Given the description of an element on the screen output the (x, y) to click on. 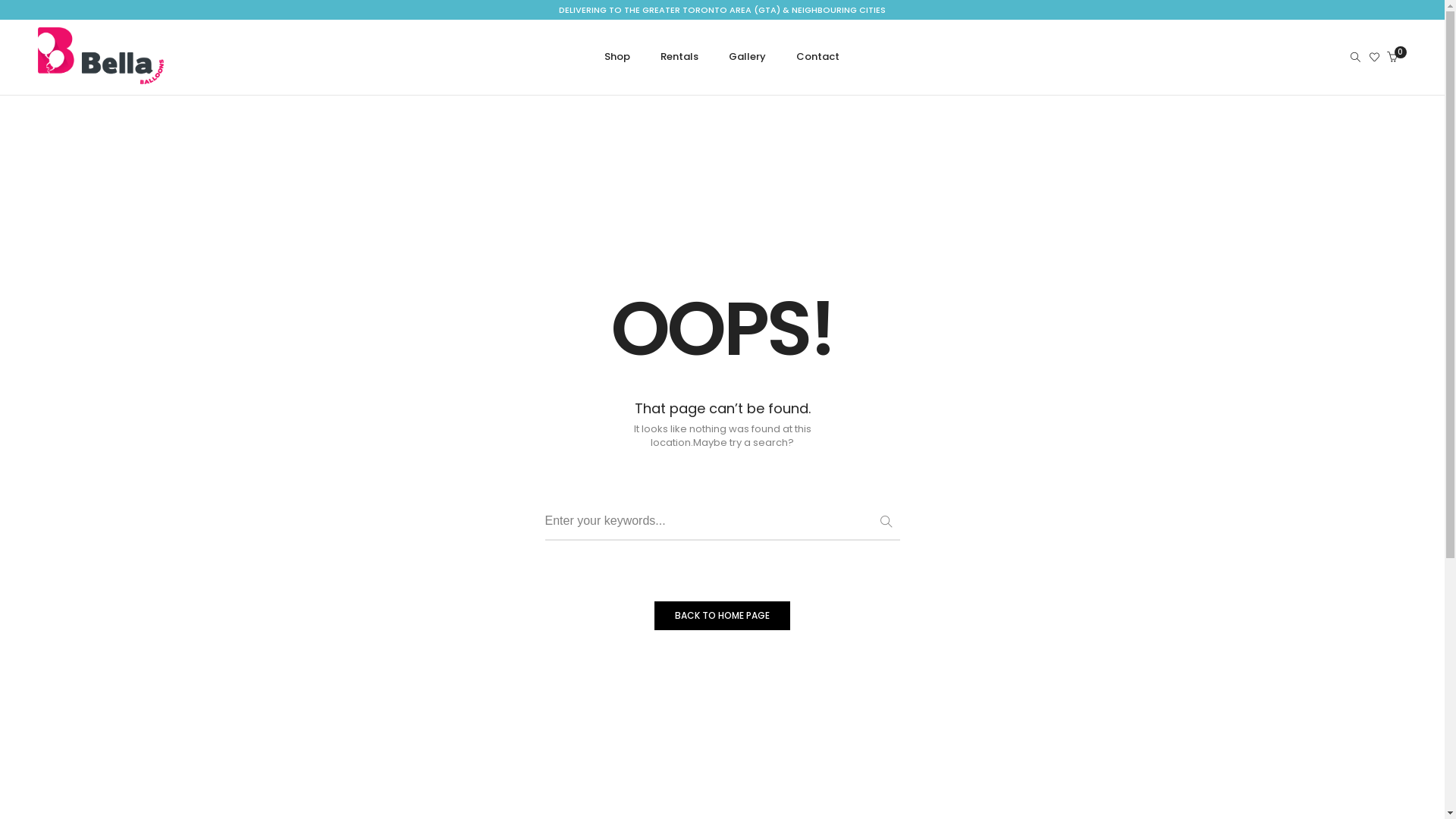
Contact Element type: text (810, 56)
Shop Element type: text (623, 56)
Gallery Element type: text (747, 56)
Rentals Element type: text (679, 56)
BACK TO HOME PAGE Element type: text (722, 615)
Bella Balloons Element type: hover (100, 85)
